Given the description of an element on the screen output the (x, y) to click on. 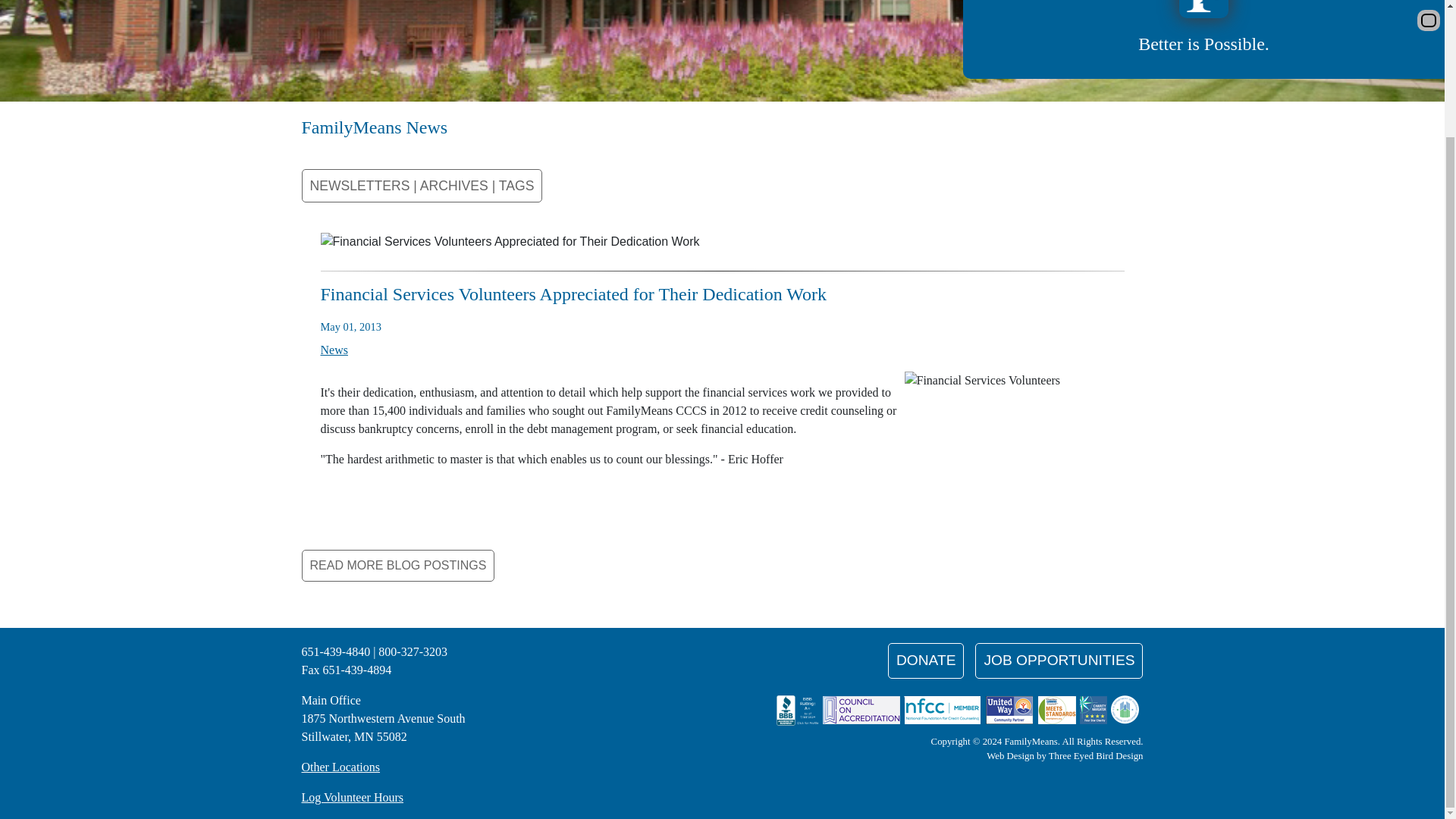
Website Design Company (1064, 756)
